Given the description of an element on the screen output the (x, y) to click on. 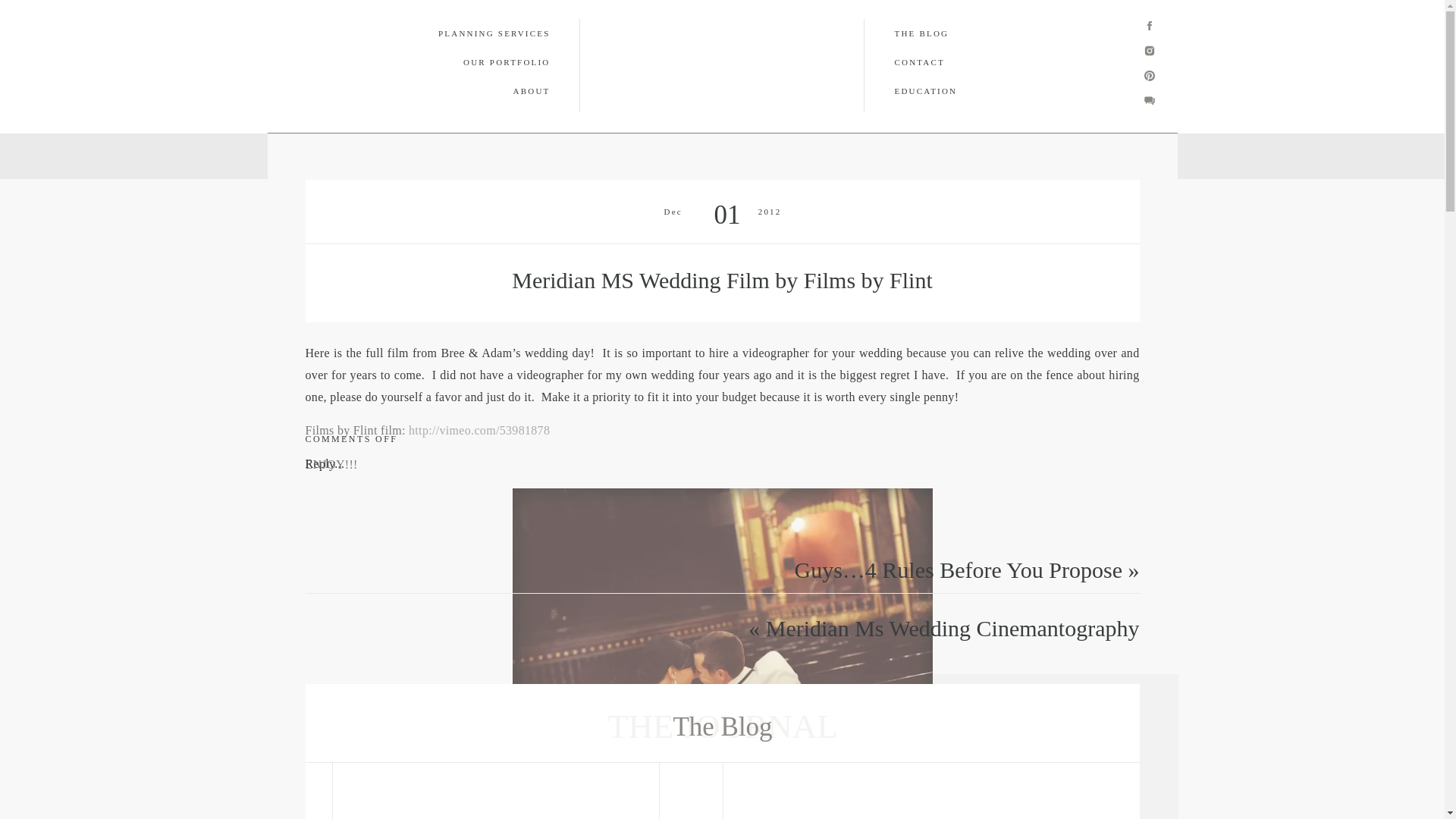
PLANNING SERVICES (369, 155)
EDUCATION (980, 90)
OUR PORTFOLIO (497, 155)
msu-riley-center-wedding (722, 627)
EDUCATION (829, 155)
ABOUT (589, 155)
Meridian Ms Wedding Cinemantography (952, 627)
PLANNING SERVICES (480, 33)
CONTACT (744, 155)
OUR PORTFOLIO (481, 61)
